Given the description of an element on the screen output the (x, y) to click on. 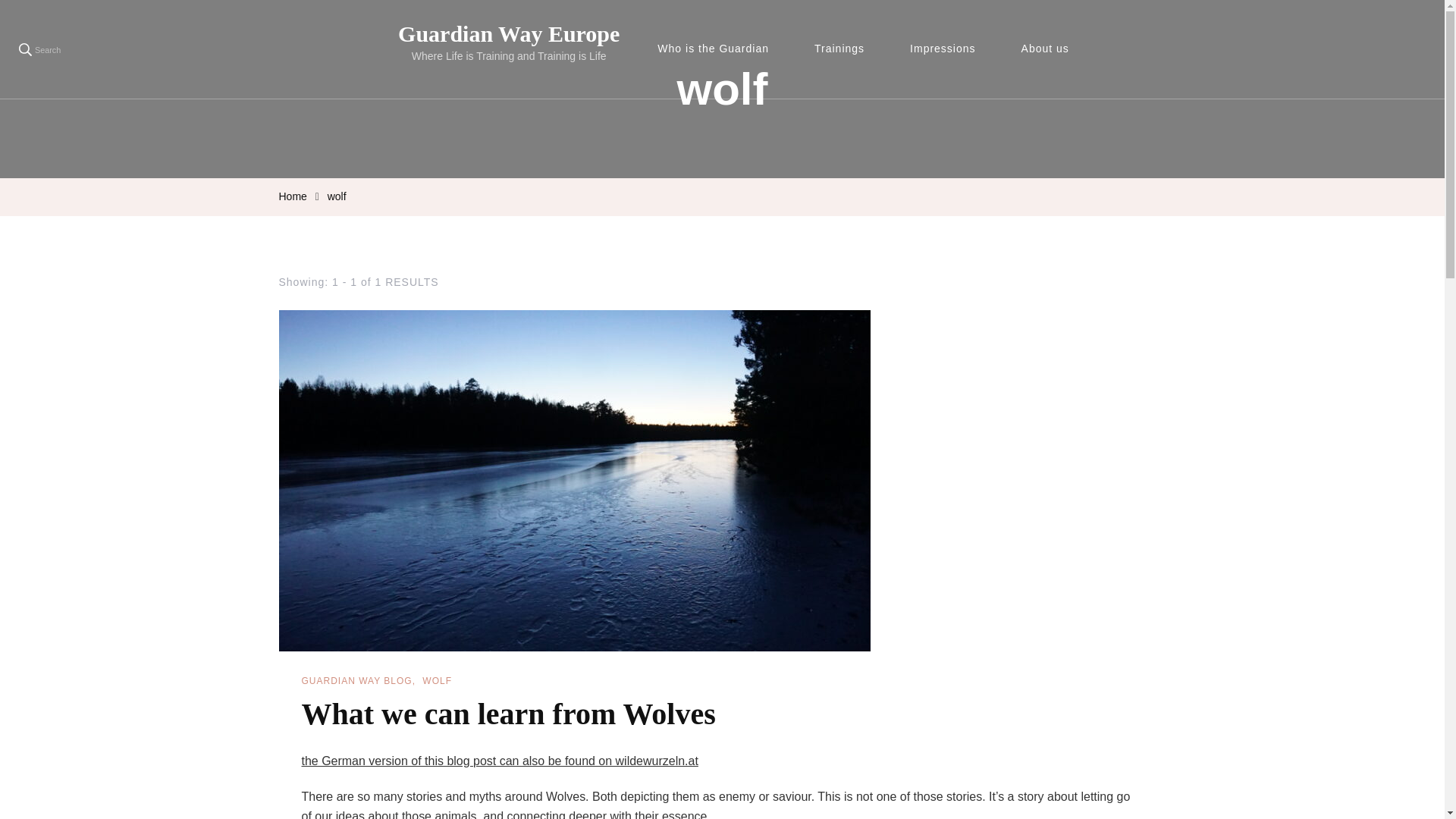
Impressions (948, 49)
Who is the Guardian (718, 49)
Search (39, 48)
Home (293, 196)
GUARDIAN WAY BLOG (357, 681)
Trainings (845, 49)
Guardian Way Europe (508, 33)
WOLF (436, 681)
What we can learn from Wolves (508, 713)
